Given the description of an element on the screen output the (x, y) to click on. 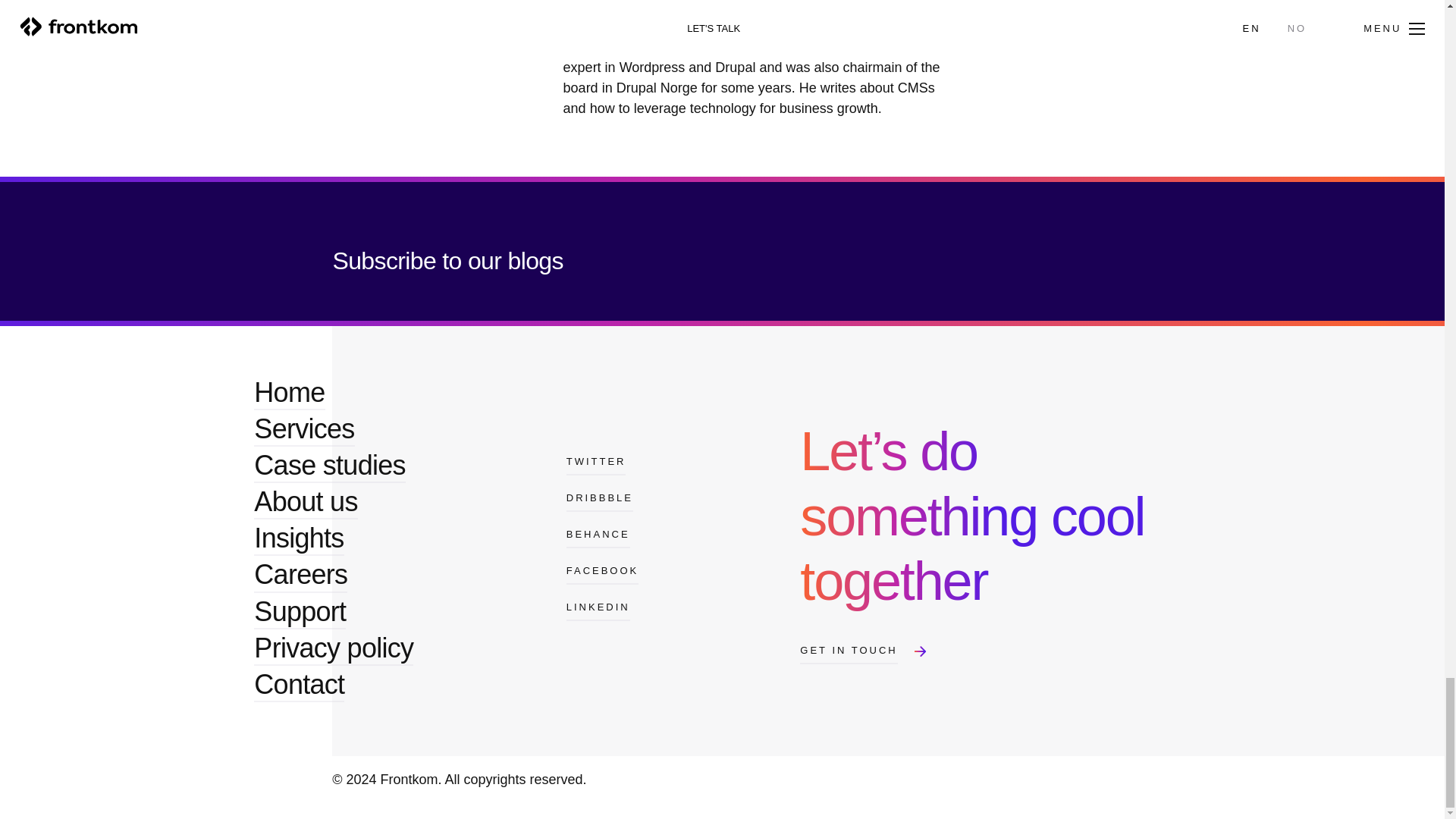
Support (299, 612)
Insights (298, 538)
Services (303, 429)
About us (304, 501)
Contact (298, 685)
Careers (300, 574)
Case studies (328, 465)
Home (288, 392)
Privacy policy (333, 648)
